Given the description of an element on the screen output the (x, y) to click on. 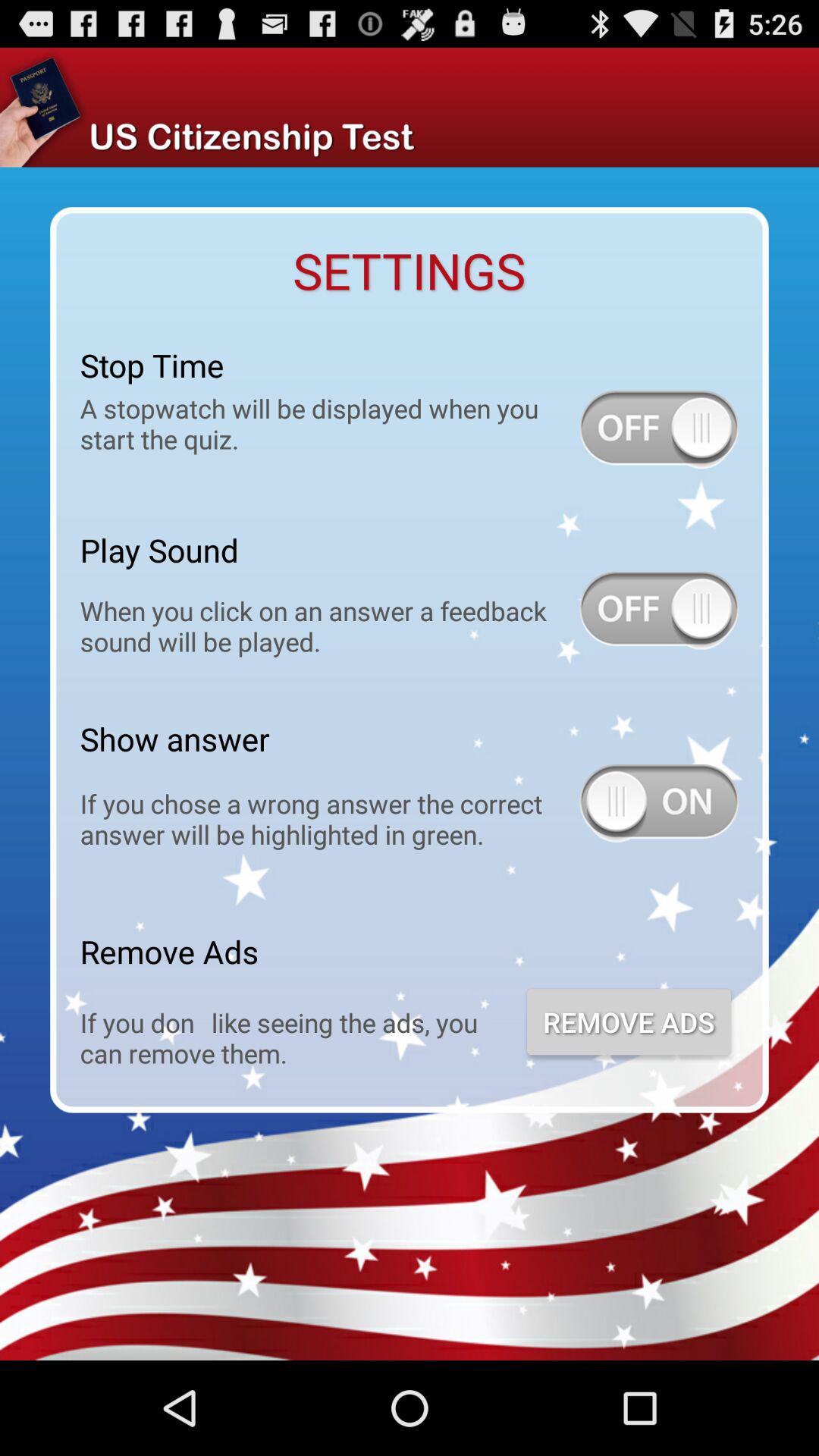
turn on setting (658, 429)
